Given the description of an element on the screen output the (x, y) to click on. 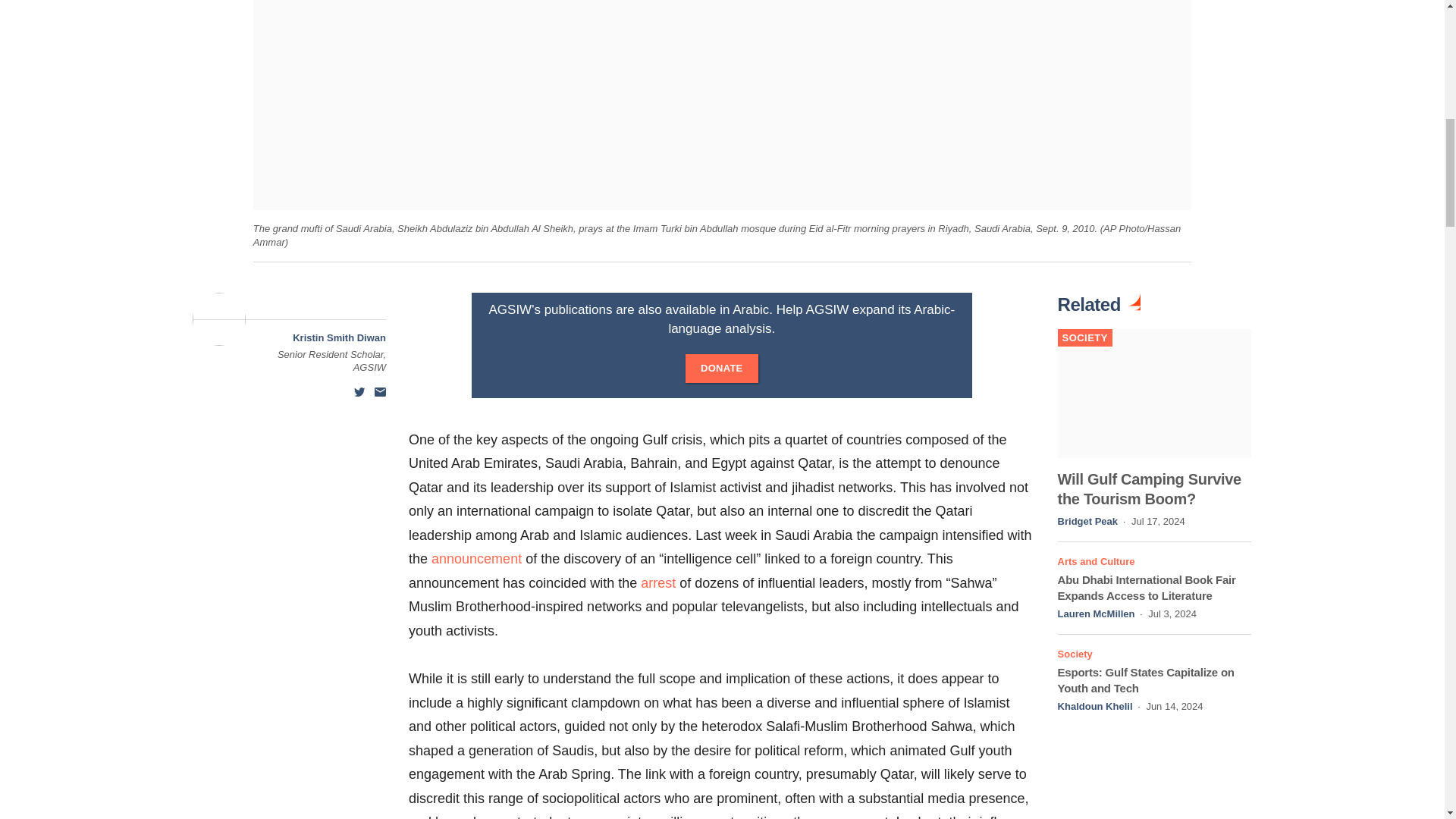
Will Gulf Camping Survive the Tourism Boom? (1149, 488)
Esports: Gulf States Capitalize on Youth and Tech (1146, 679)
Kristin Smith Diwan (338, 337)
